Given the description of an element on the screen output the (x, y) to click on. 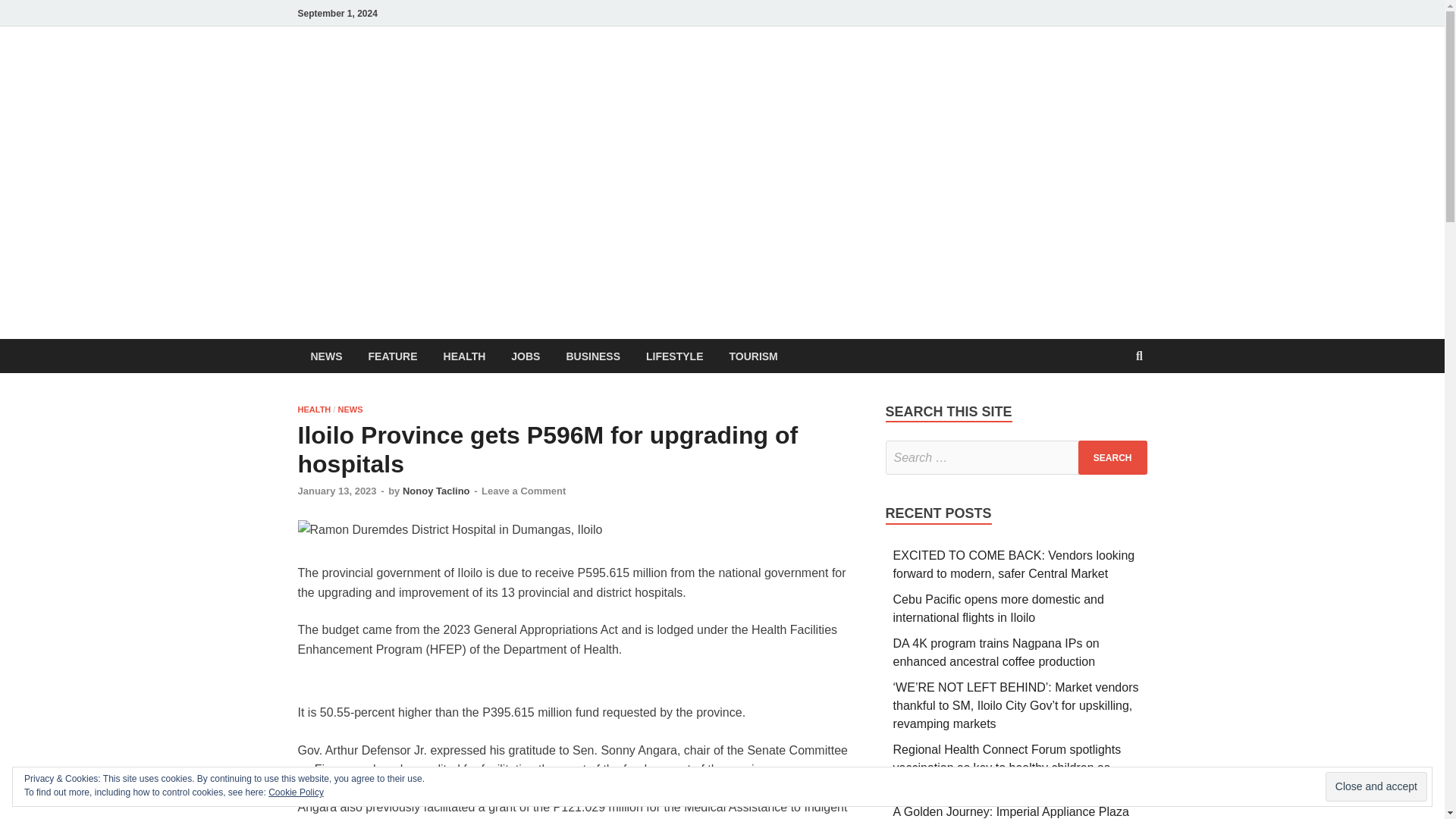
Search (1112, 457)
HEALTH (464, 356)
LIFESTYLE (674, 356)
TOURISM (753, 356)
BUSINESS (593, 356)
Search (1112, 457)
Search (1112, 457)
Nonoy Taclino (436, 490)
Leave a Comment (523, 490)
